Given the description of an element on the screen output the (x, y) to click on. 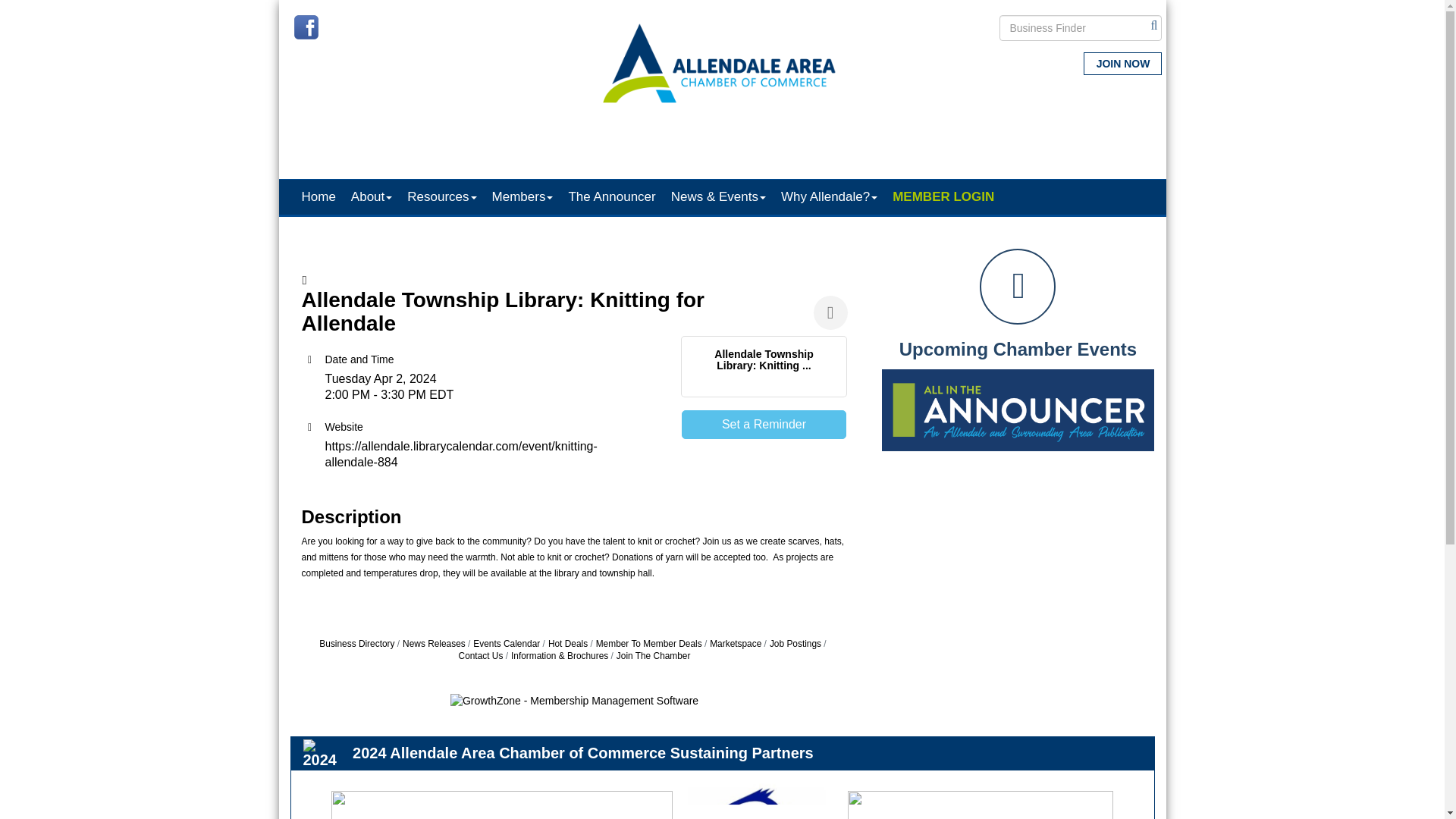
Resources (438, 196)
Home (314, 196)
Why Allendale? (825, 196)
About (367, 196)
Members (518, 196)
The Announcer (607, 196)
2024 Allendale Area Chamber of Commerce Sustaining Partners (325, 754)
JOIN NOW (1122, 63)
